Given the description of an element on the screen output the (x, y) to click on. 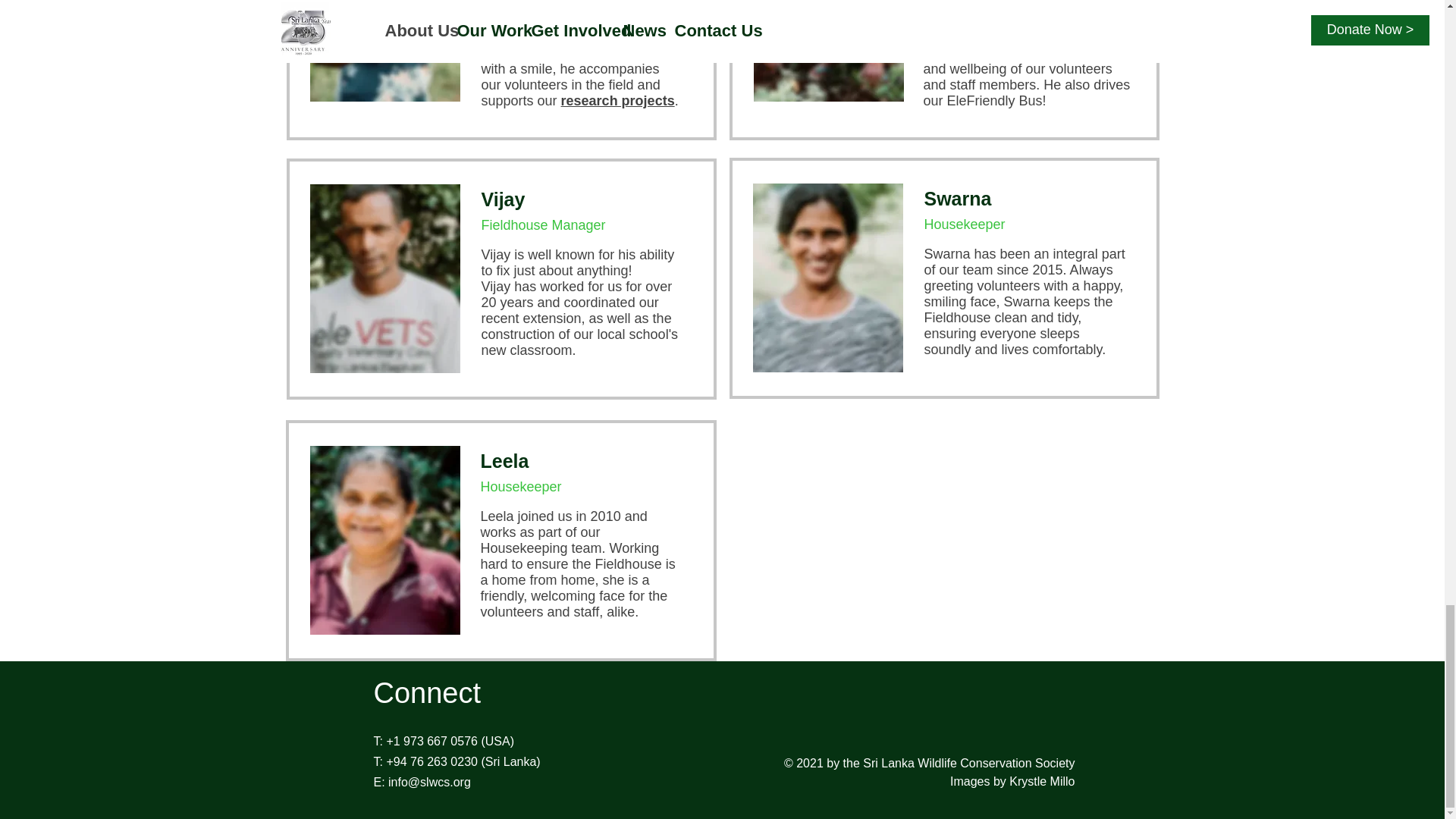
research projects (617, 100)
Volunteer Programme (1045, 37)
